Given the description of an element on the screen output the (x, y) to click on. 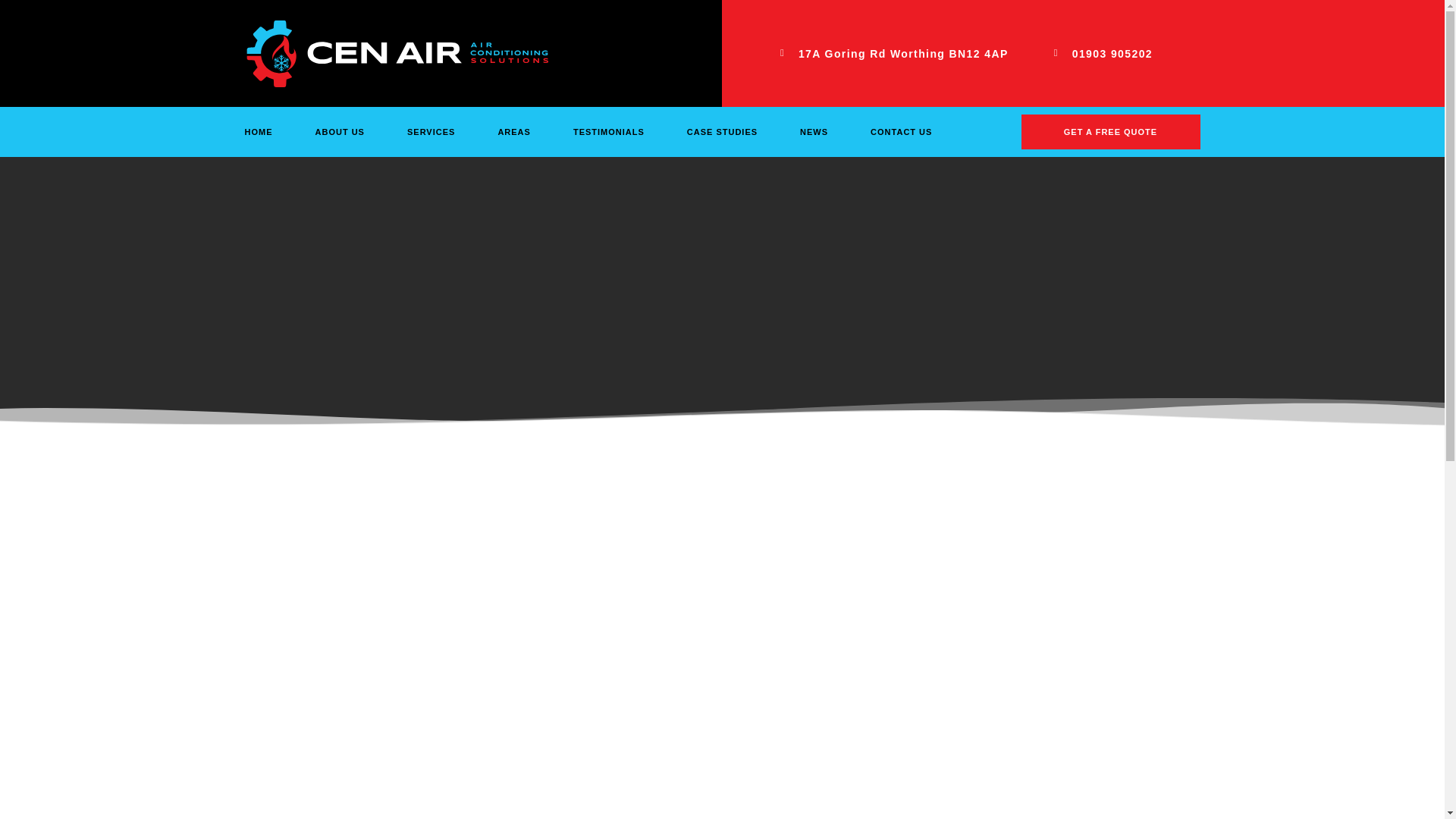
TESTIMONIALS (609, 131)
CASE STUDIES (722, 131)
AREAS (514, 131)
01903 905202 (1112, 53)
ABOUT US (340, 131)
HOME (258, 131)
17A Goring Rd Worthing BN12 4AP (903, 53)
CONTACT US (900, 131)
SERVICES (430, 131)
NEWS (813, 131)
